Given the description of an element on the screen output the (x, y) to click on. 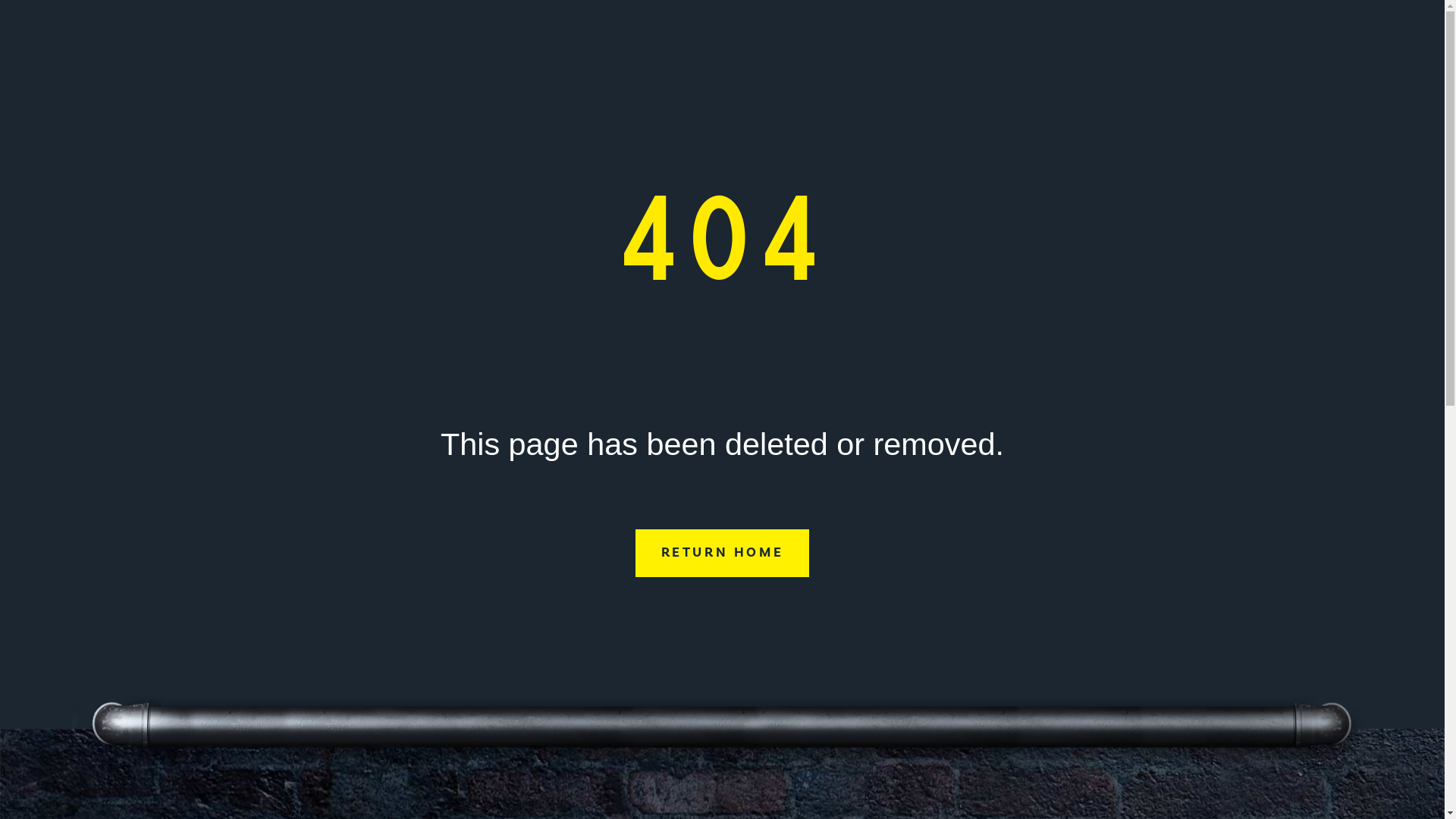
RETURN HOME Element type: text (722, 553)
